Given the description of an element on the screen output the (x, y) to click on. 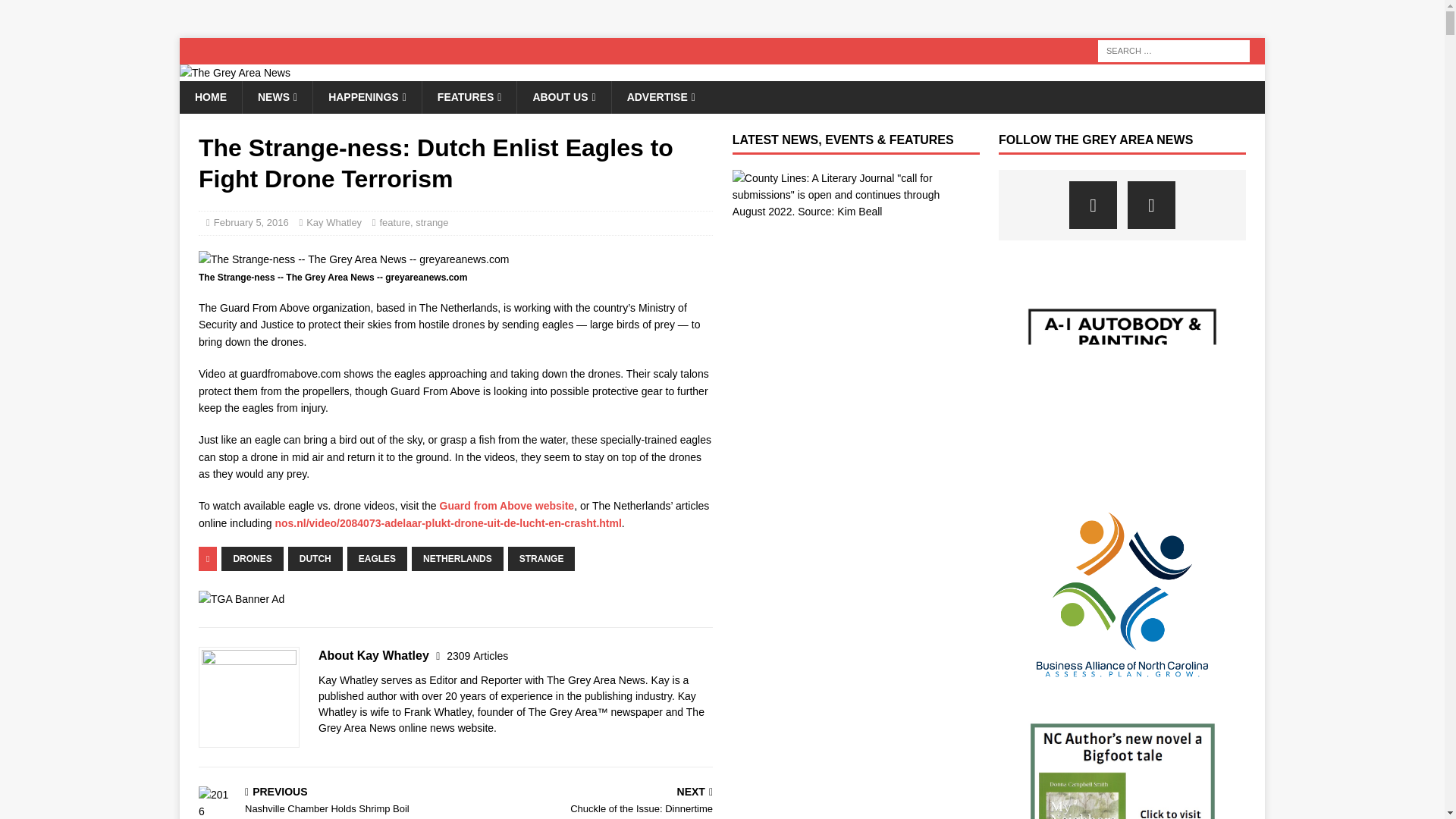
More articles written by Kay Whatley' (477, 655)
Search (56, 11)
The Grey Area News (234, 72)
The Strange-ness -- The Grey Area News -- greyareanews.com (353, 258)
